Given the description of an element on the screen output the (x, y) to click on. 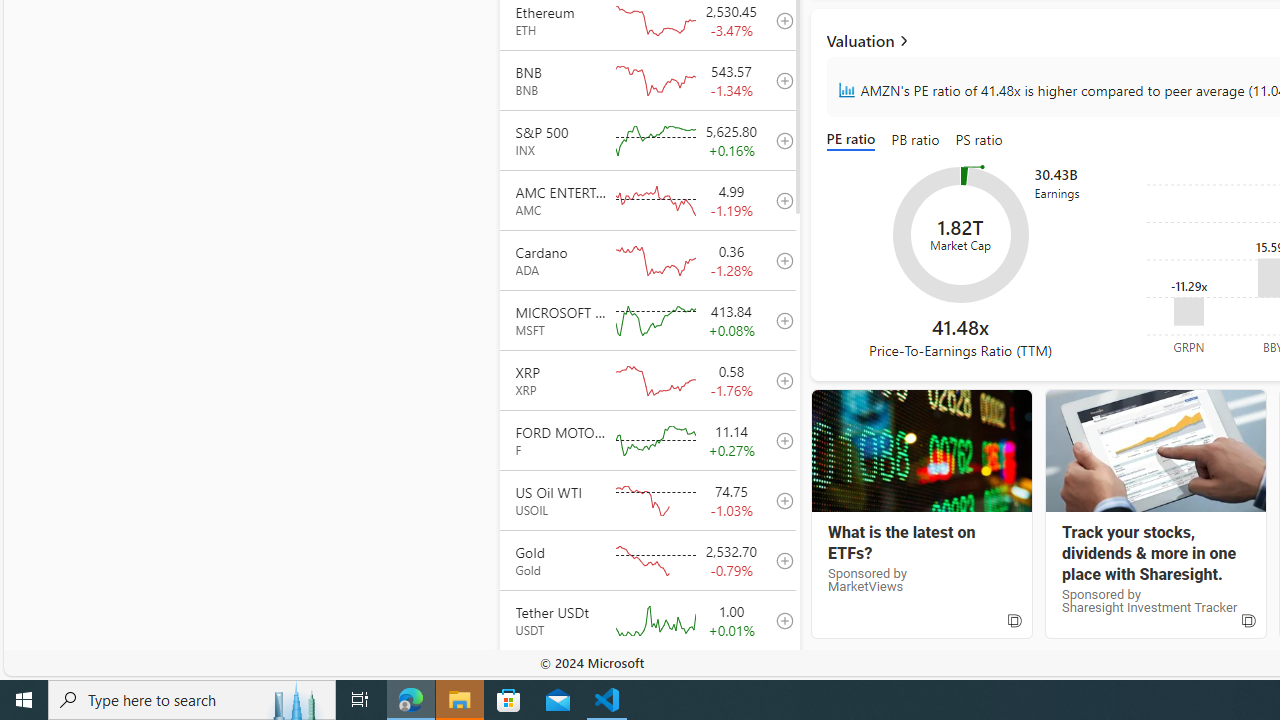
Class: recharts-surface (959, 234)
